Given the description of an element on the screen output the (x, y) to click on. 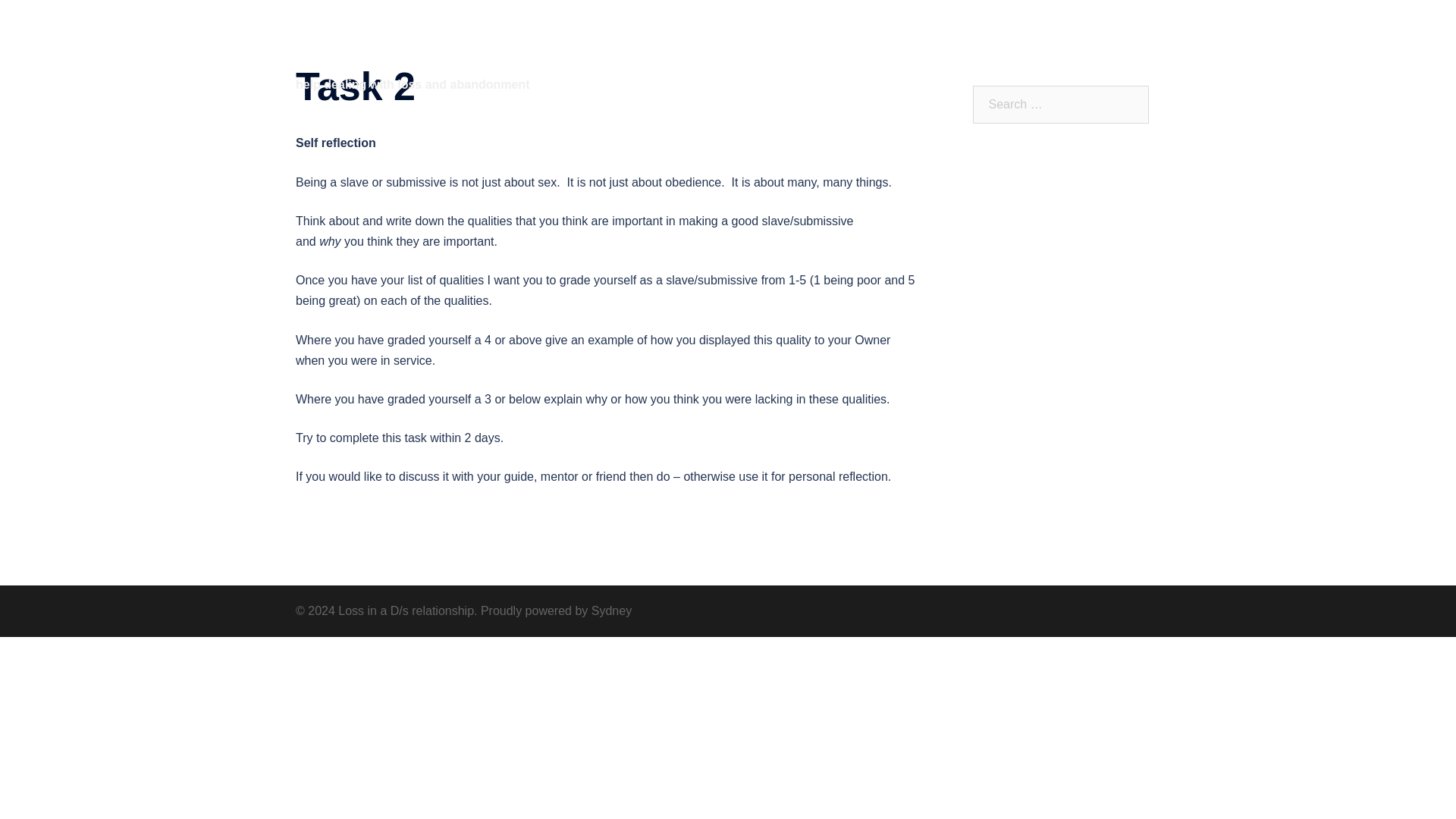
Search (47, 18)
Tasks (1038, 54)
About this guide (1112, 54)
Accepting that they are gone (797, 54)
Welcome (687, 54)
Sydney (611, 610)
Making the pain go away (945, 54)
